Given the description of an element on the screen output the (x, y) to click on. 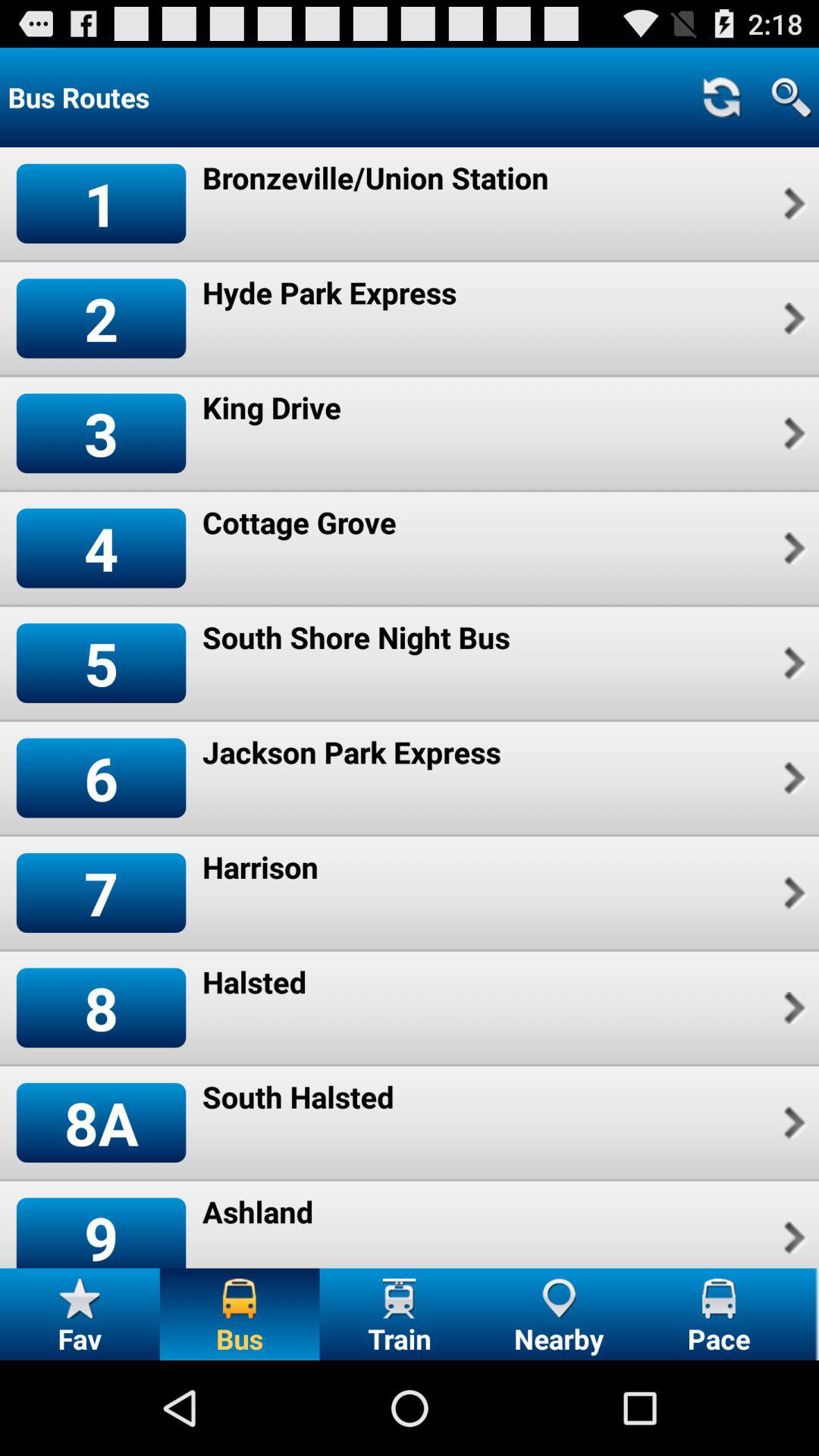
launch the item to the left of the king drive icon (100, 433)
